Given the description of an element on the screen output the (x, y) to click on. 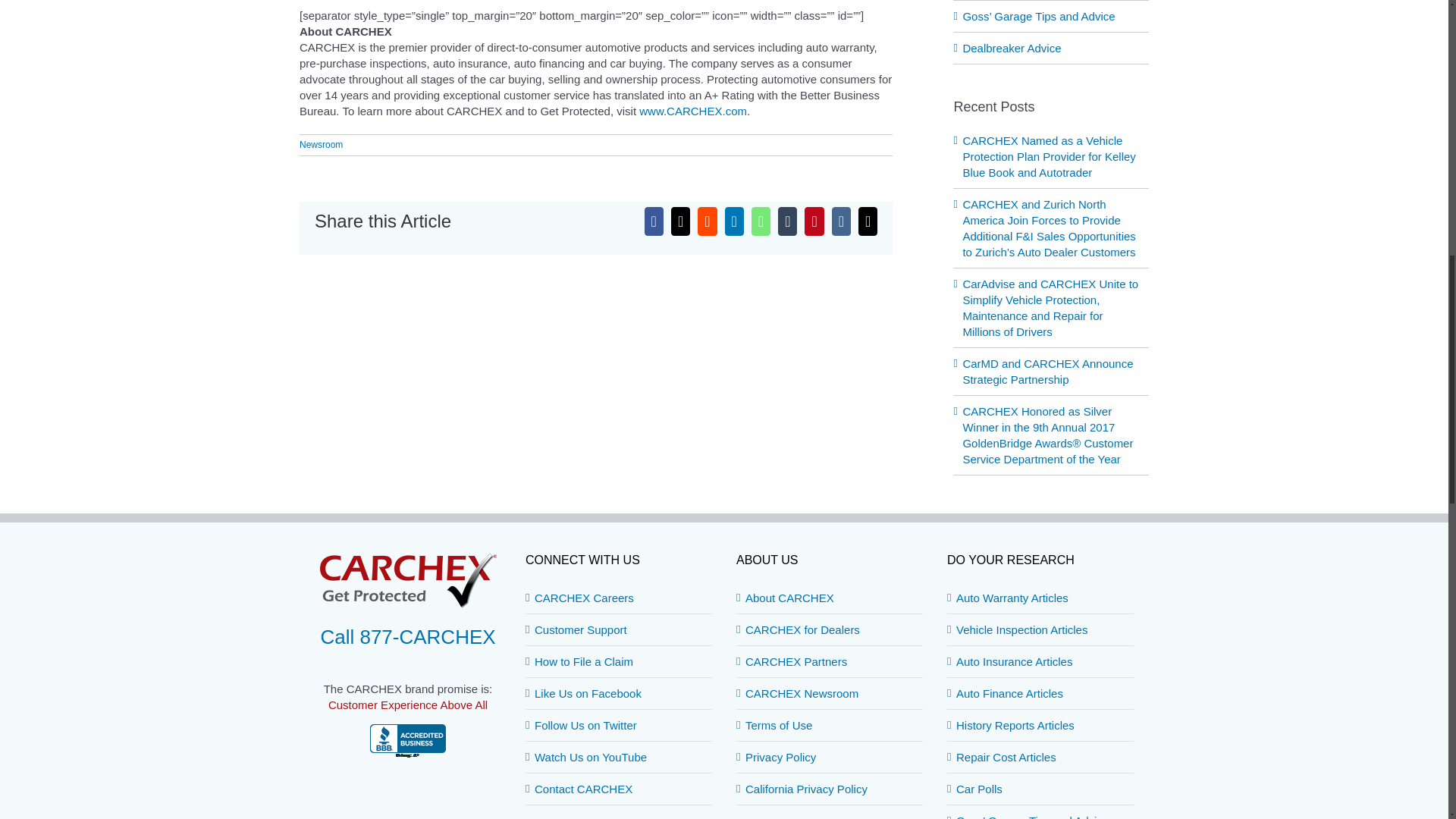
Newsroom (320, 144)
Home (692, 110)
www.CARCHEX.com (692, 110)
